Given the description of an element on the screen output the (x, y) to click on. 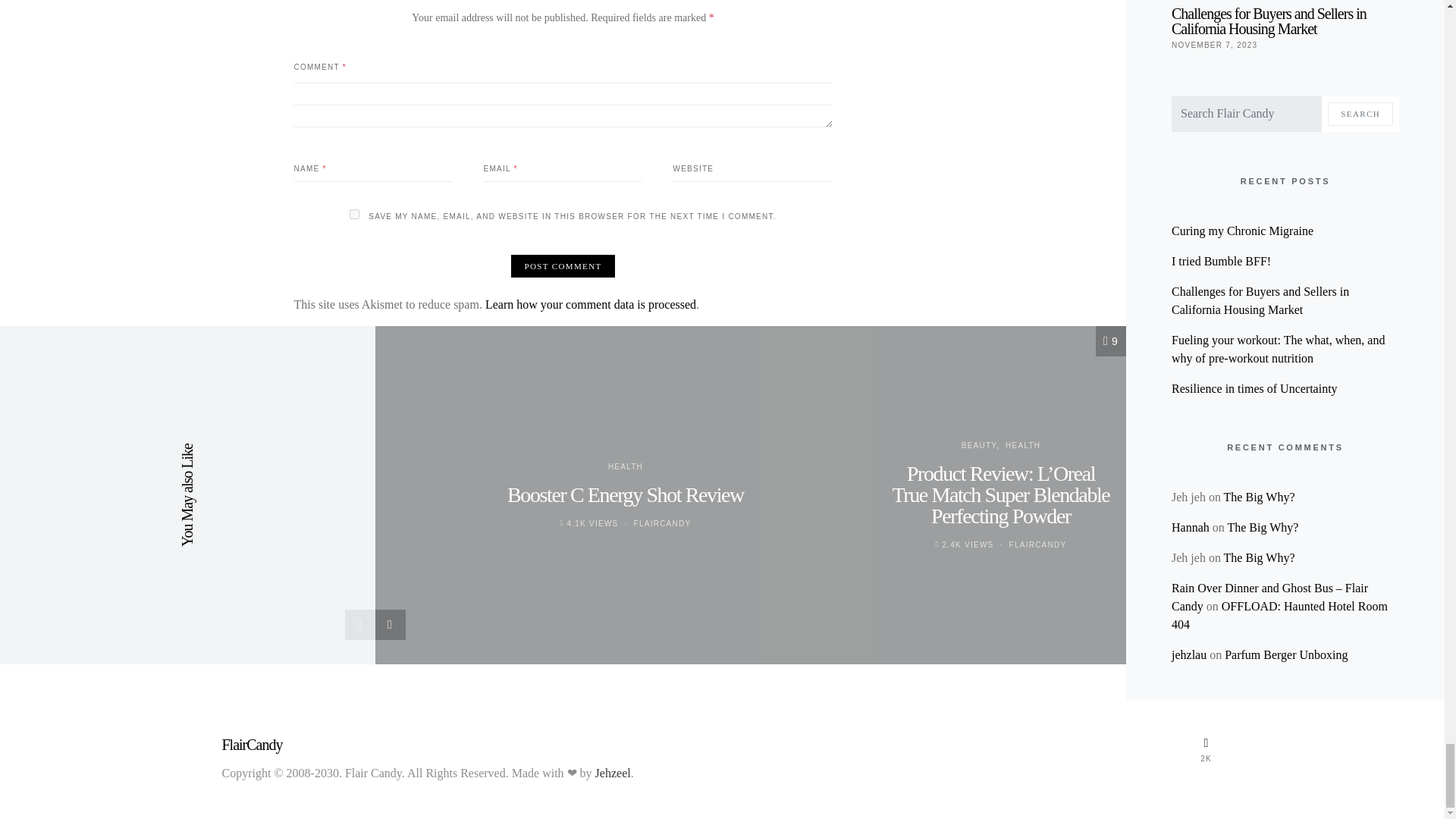
View all posts by flaircandy (662, 523)
Post Comment (562, 266)
yes (354, 214)
View all posts by flaircandy (1038, 544)
